Given the description of an element on the screen output the (x, y) to click on. 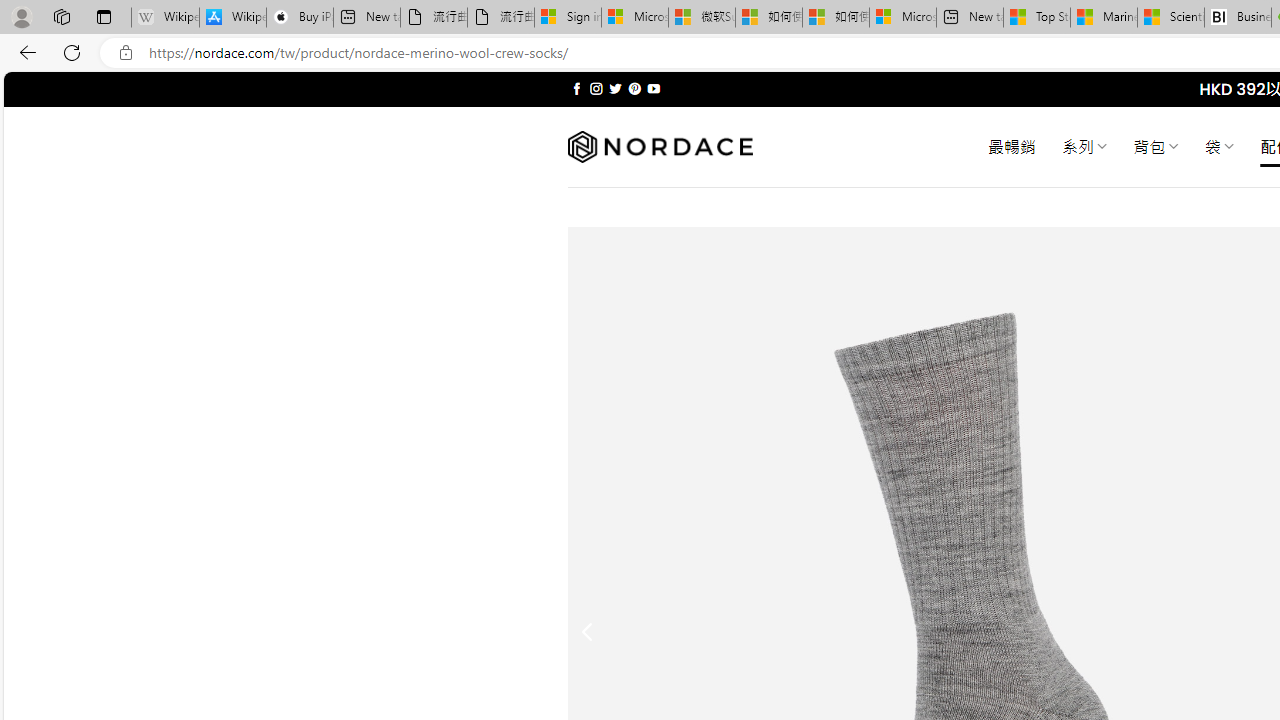
Follow on Pinterest (634, 88)
